Given the description of an element on the screen output the (x, y) to click on. 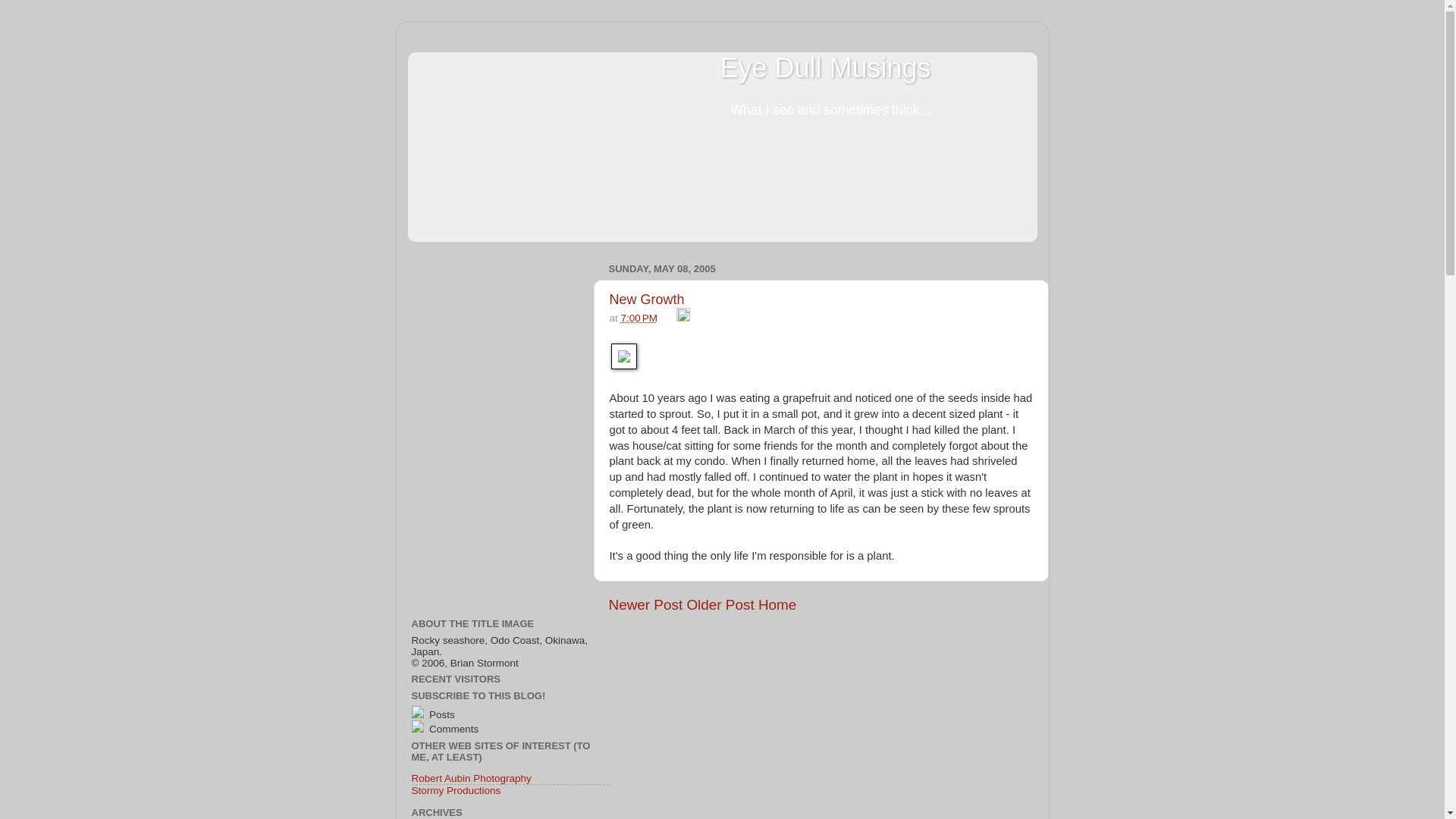
Edit Post (683, 317)
Robert Aubin Photography (470, 778)
Stormy Productions (455, 790)
Newer Post (645, 604)
Newer Post (645, 604)
Eye Dull Musings (824, 67)
Email Post (669, 317)
Older Post (719, 604)
permanent link (639, 317)
New Growth (647, 299)
Older Post (719, 604)
Home (777, 604)
